Given the description of an element on the screen output the (x, y) to click on. 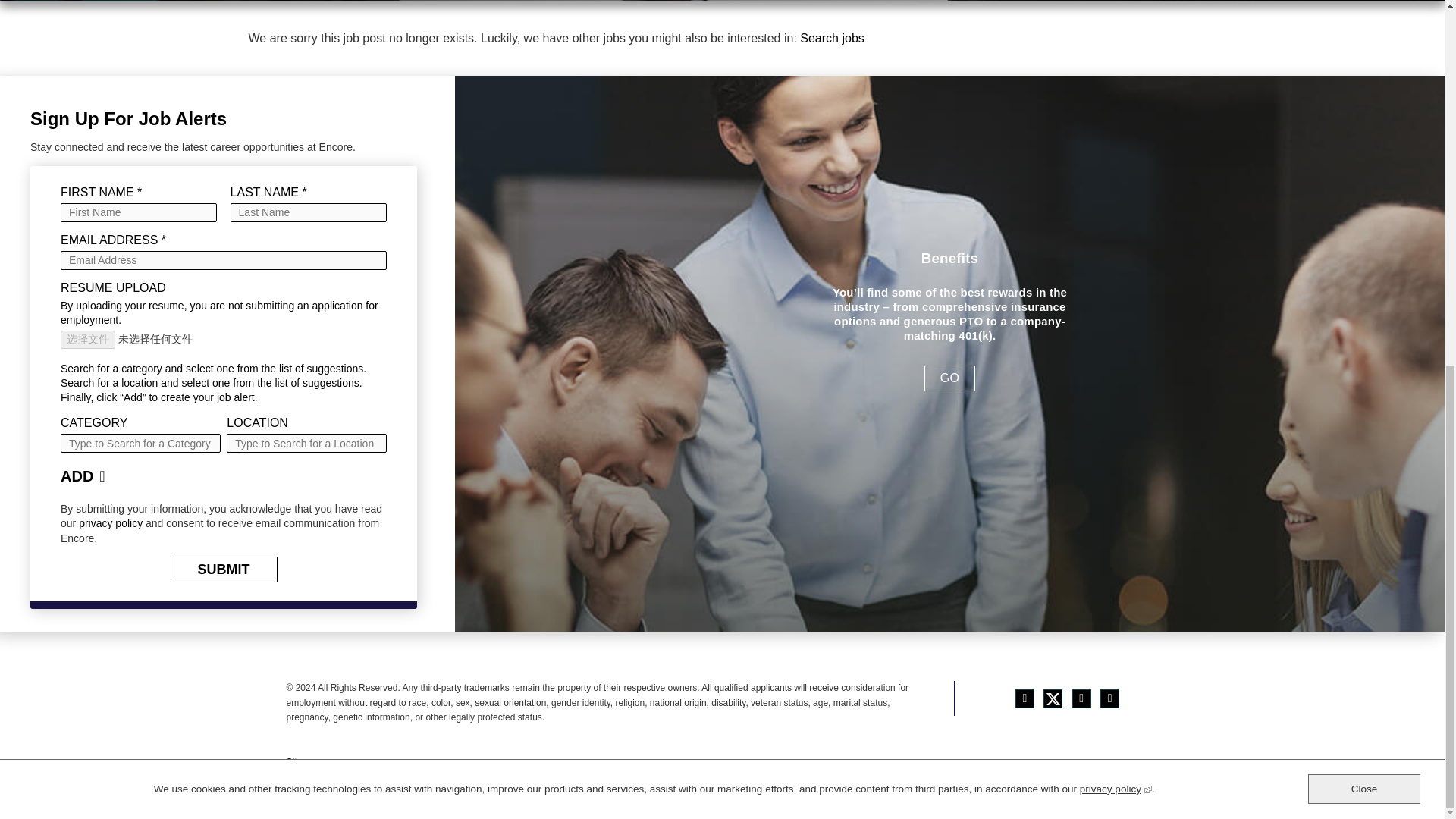
Sitemap (303, 761)
Close (1363, 132)
ADD (89, 476)
submit (223, 569)
submit (223, 569)
X (1052, 698)
LinkedIn (1080, 698)
GO (949, 378)
Instagram (1109, 698)
Facebook (1023, 698)
Search jobs (831, 38)
